Given the description of an element on the screen output the (x, y) to click on. 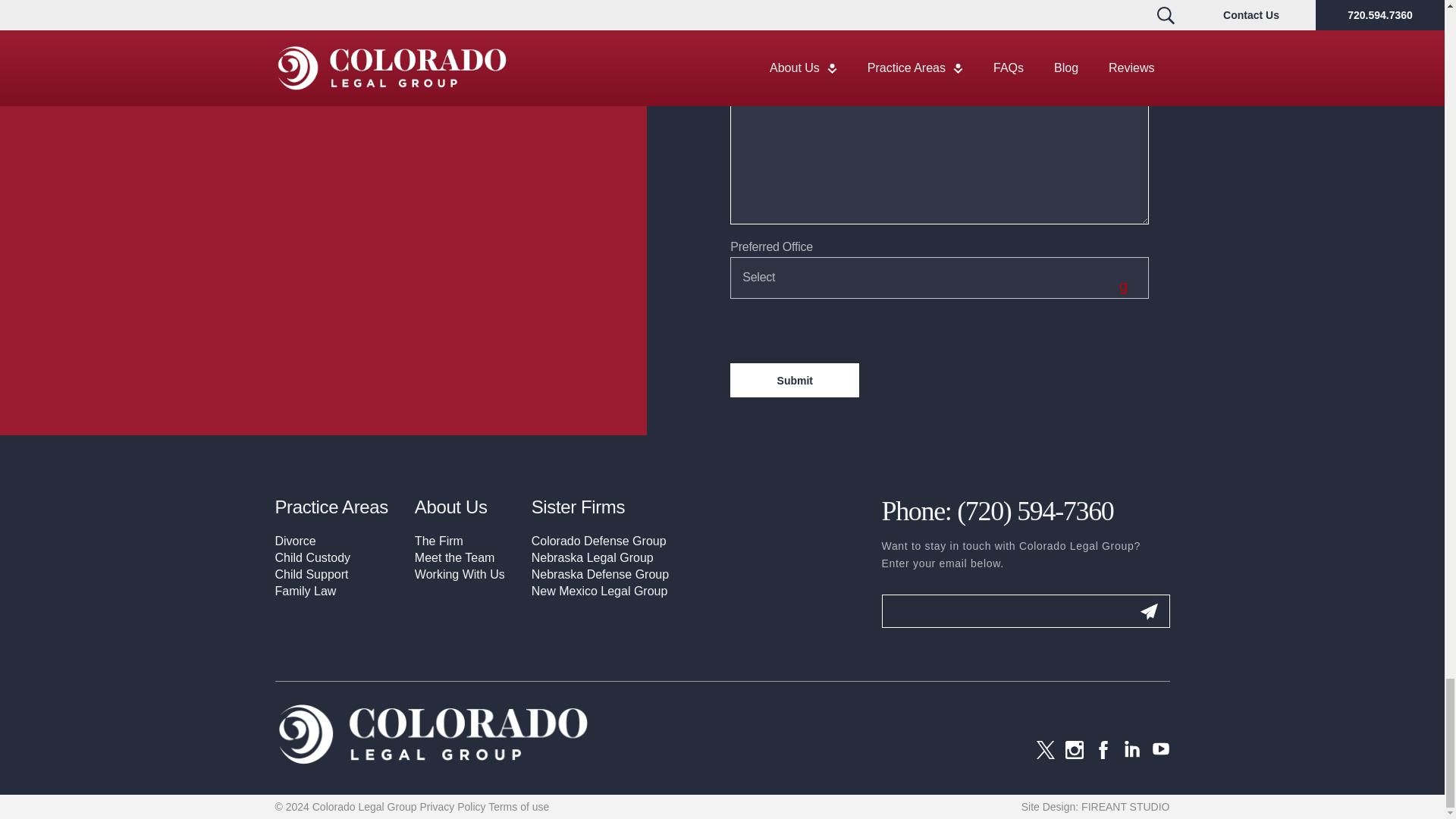
Submit (794, 380)
Submit (1148, 611)
